Given the description of an element on the screen output the (x, y) to click on. 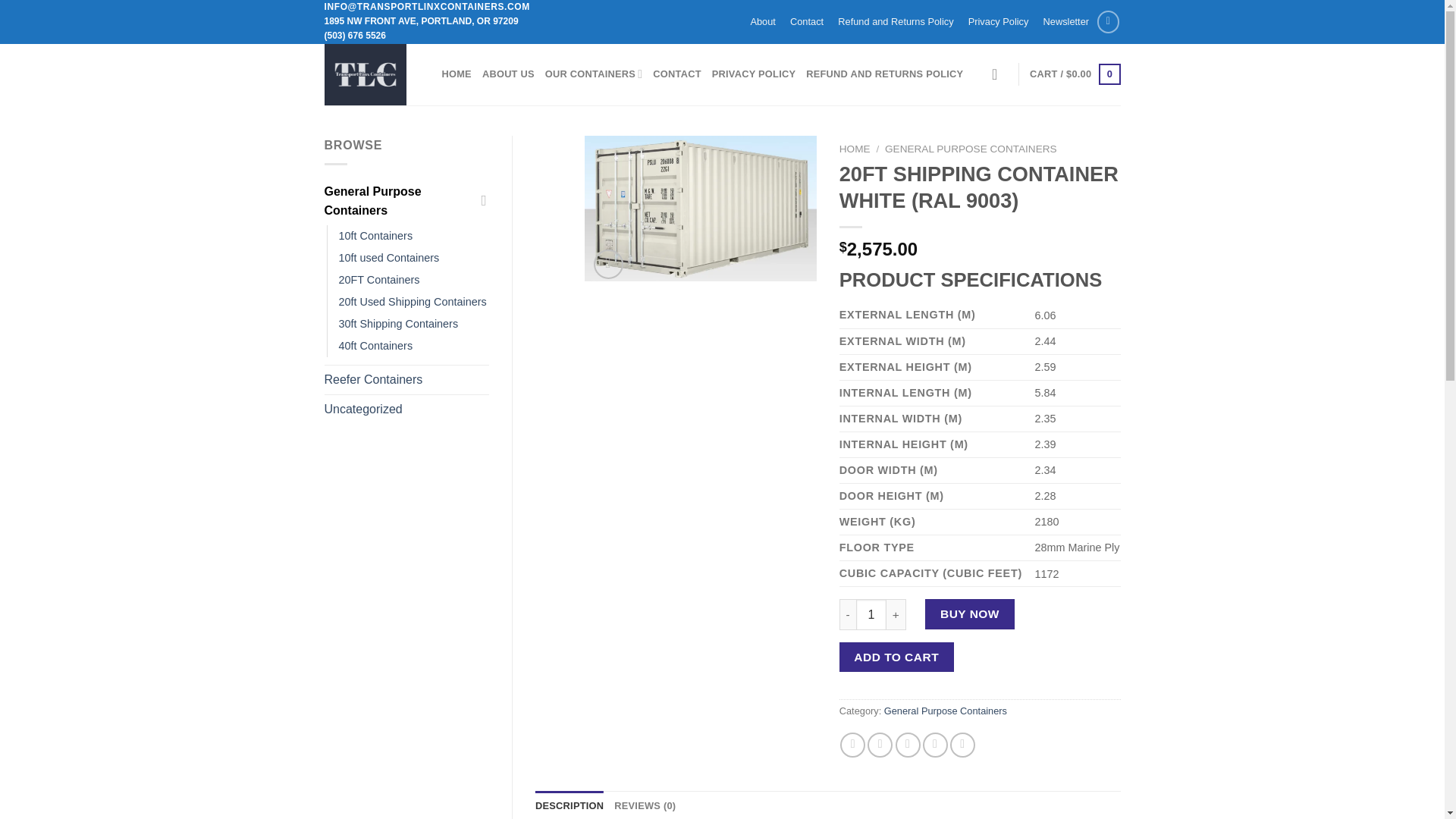
ABOUT US (507, 73)
Email to a Friend (907, 744)
Privacy Policy (997, 21)
Sign up for Newsletter (1065, 21)
Pin on Pinterest (935, 744)
Send us an email (1108, 21)
Contact (806, 21)
Uncategorized (406, 409)
Reefer Containers (406, 379)
OUR CONTAINERS (593, 73)
